Given the description of an element on the screen output the (x, y) to click on. 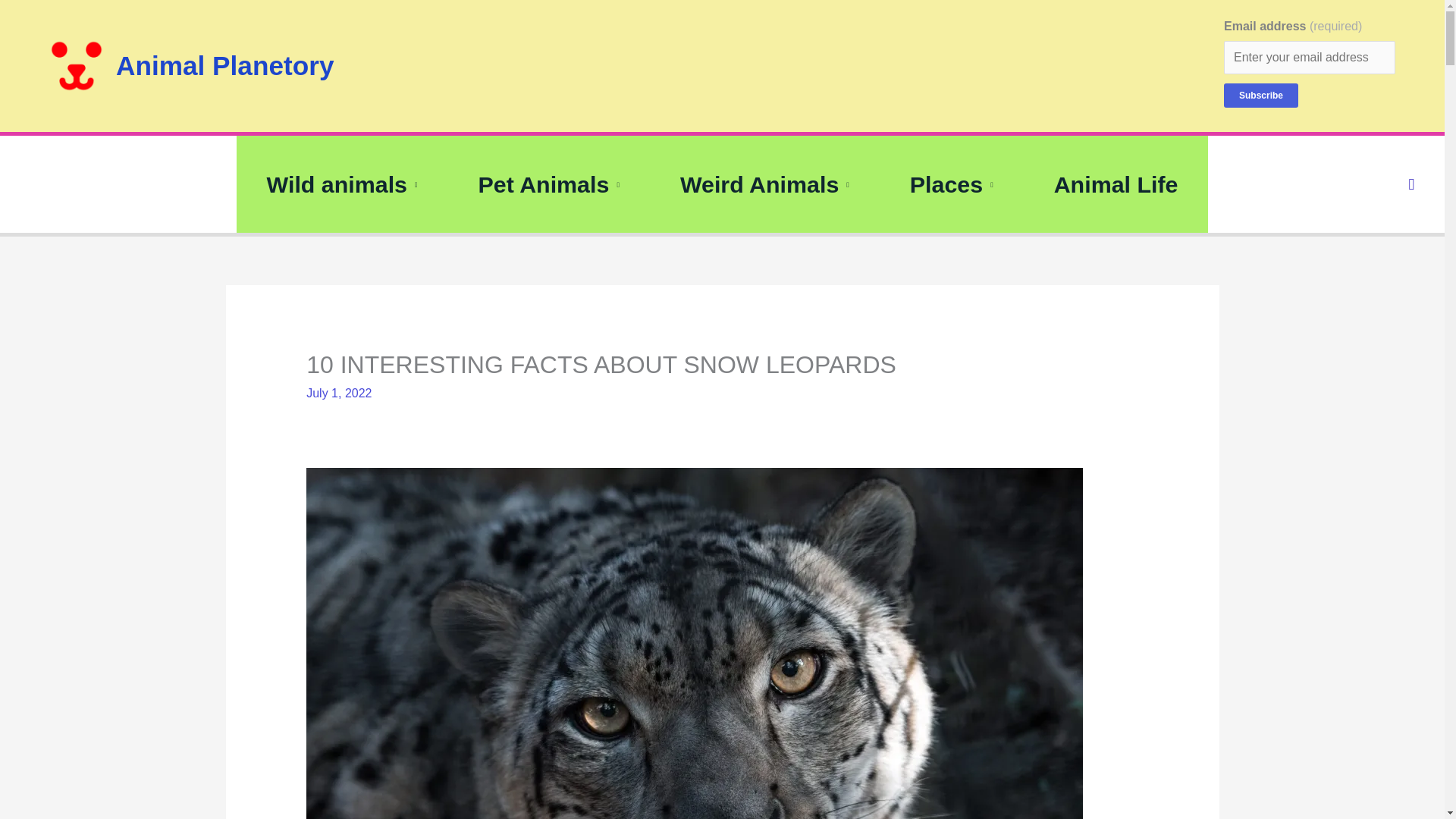
Weird Animals (764, 184)
Animal Life (1115, 184)
Subscribe (1261, 95)
Pet Animals (548, 184)
Wild animals (341, 184)
Animal Planetory (224, 65)
Places (951, 184)
